Given the description of an element on the screen output the (x, y) to click on. 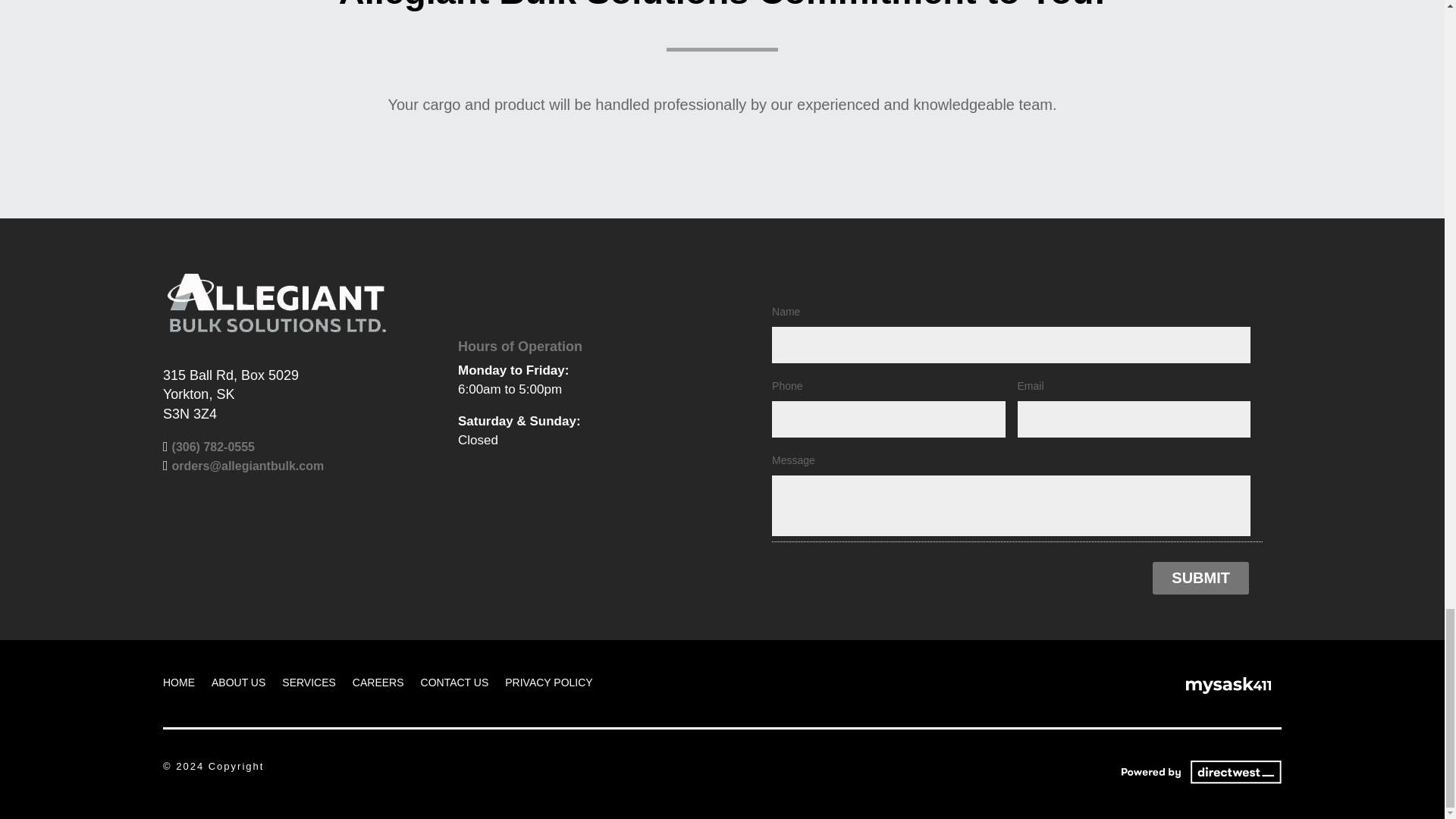
Submit (1201, 577)
my-sask411-logo-white (1227, 685)
powered-by-directwest-white (1195, 770)
Allegian-Logo (276, 303)
Submit (1201, 577)
